Given the description of an element on the screen output the (x, y) to click on. 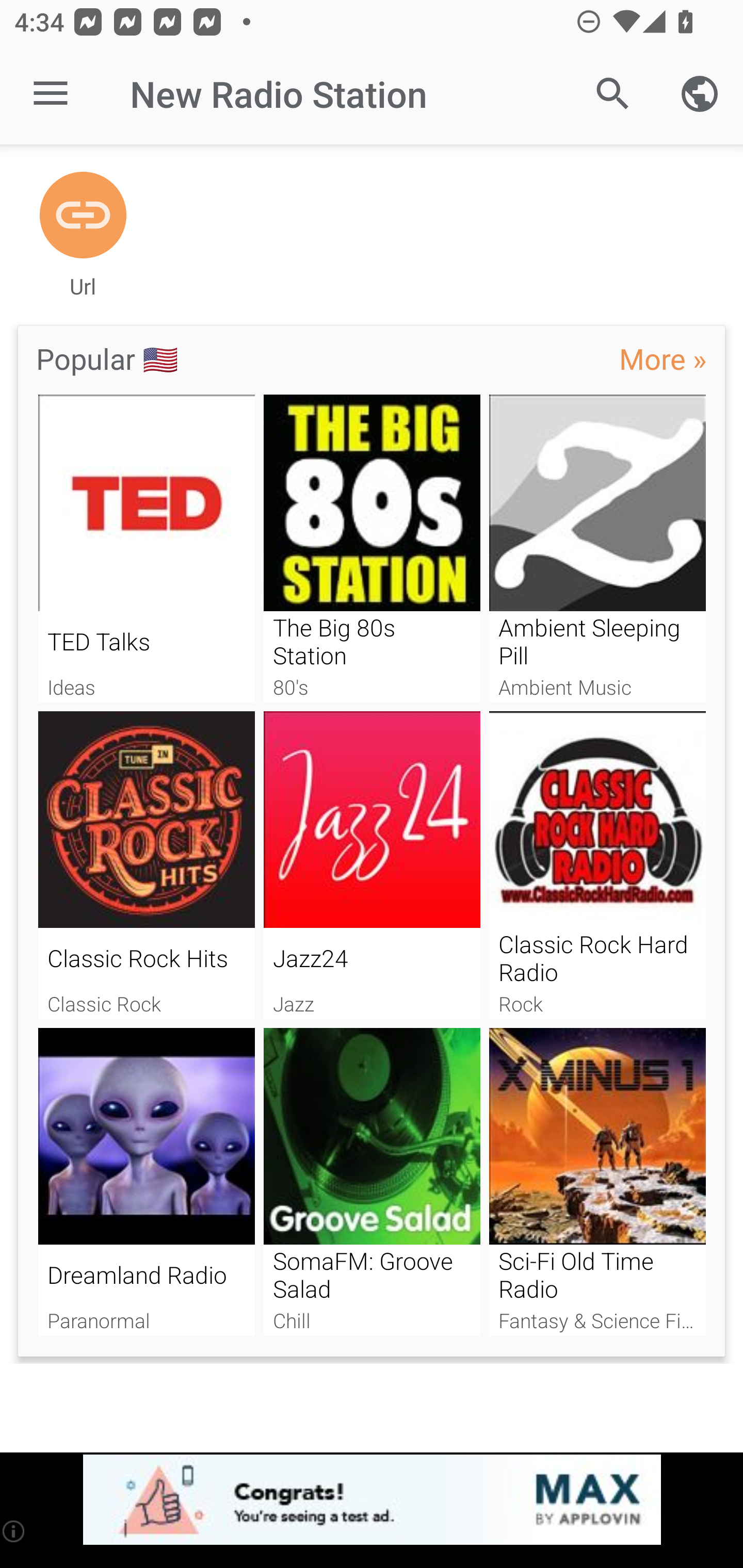
Open navigation sidebar (50, 93)
Search (612, 93)
Podcast languages (699, 93)
RSS (82, 215)
More » (662, 357)
TED Talks Ideas (145, 548)
The Big 80s Station 80's (371, 548)
Ambient Sleeping Pill Ambient Music (596, 548)
Classic Rock Hits Classic Rock (145, 865)
Jazz24 Jazz (371, 865)
Classic Rock Hard Radio Rock (596, 865)
Dreamland Radio Paranormal (145, 1181)
SomaFM: Groove Salad Chill (371, 1181)
app-monetization (371, 1500)
(i) (14, 1531)
